Given the description of an element on the screen output the (x, y) to click on. 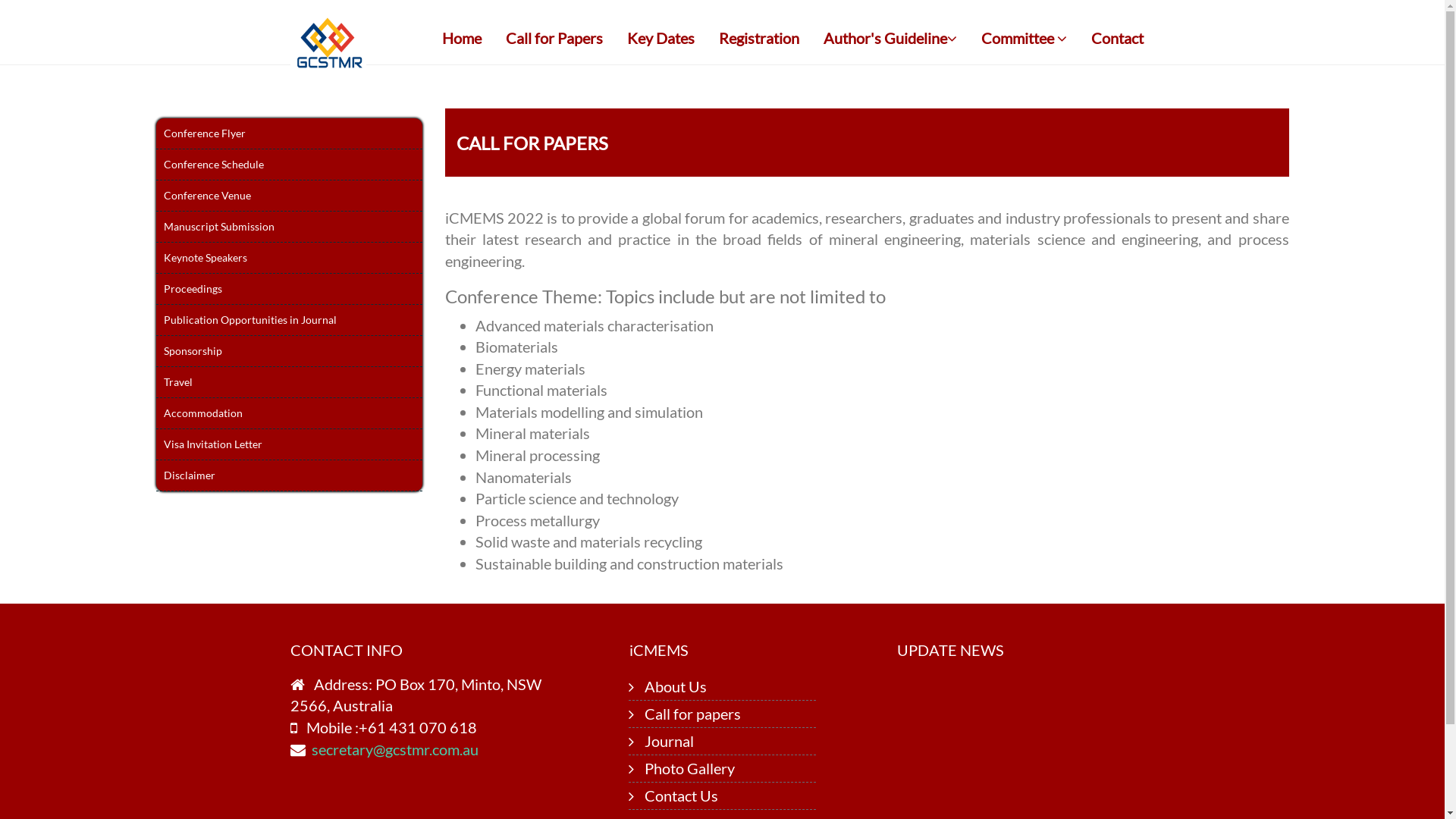
Conference Schedule Element type: text (289, 164)
About Us Element type: text (675, 686)
Call for papers Element type: text (692, 713)
Publication Opportunities in Journal Element type: text (289, 319)
Contact Us Element type: text (681, 795)
Accommodation Element type: text (289, 413)
Committee Element type: text (1023, 37)
Conference Flyer Element type: text (289, 133)
Sponsorship Element type: text (289, 351)
Conference Venue Element type: text (289, 195)
Disclaimer Element type: text (289, 475)
Photo Gallery Element type: text (689, 768)
Journal Element type: text (668, 740)
Contact Element type: text (1116, 37)
Registration Element type: text (757, 37)
Travel Element type: text (289, 382)
Keynote Speakers Element type: text (289, 257)
secretary@gcstmr.com.au Element type: text (393, 749)
Key Dates Element type: text (660, 37)
Proceedings Element type: text (289, 288)
Author's Guideline Element type: text (889, 37)
Home Element type: text (461, 37)
Manuscript Submission Element type: text (289, 226)
Call for Papers Element type: text (554, 37)
Visa Invitation Letter Element type: text (289, 444)
